Given the description of an element on the screen output the (x, y) to click on. 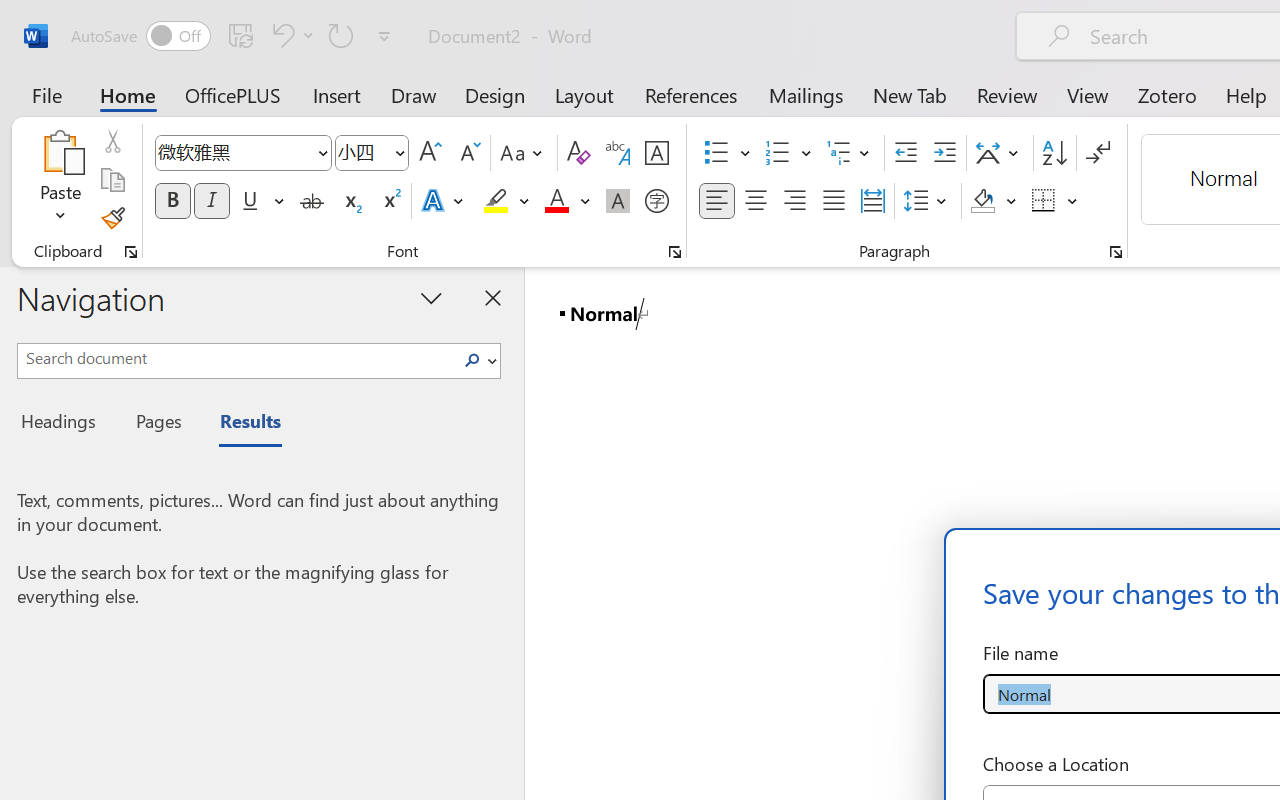
Text Highlight Color Yellow (495, 201)
Paragraph... (1115, 252)
Mailings (806, 94)
Open (399, 152)
Sort... (1054, 153)
Pages (156, 424)
Font Color Red (556, 201)
Multilevel List (850, 153)
Draw (413, 94)
Borders (1055, 201)
